Given the description of an element on the screen output the (x, y) to click on. 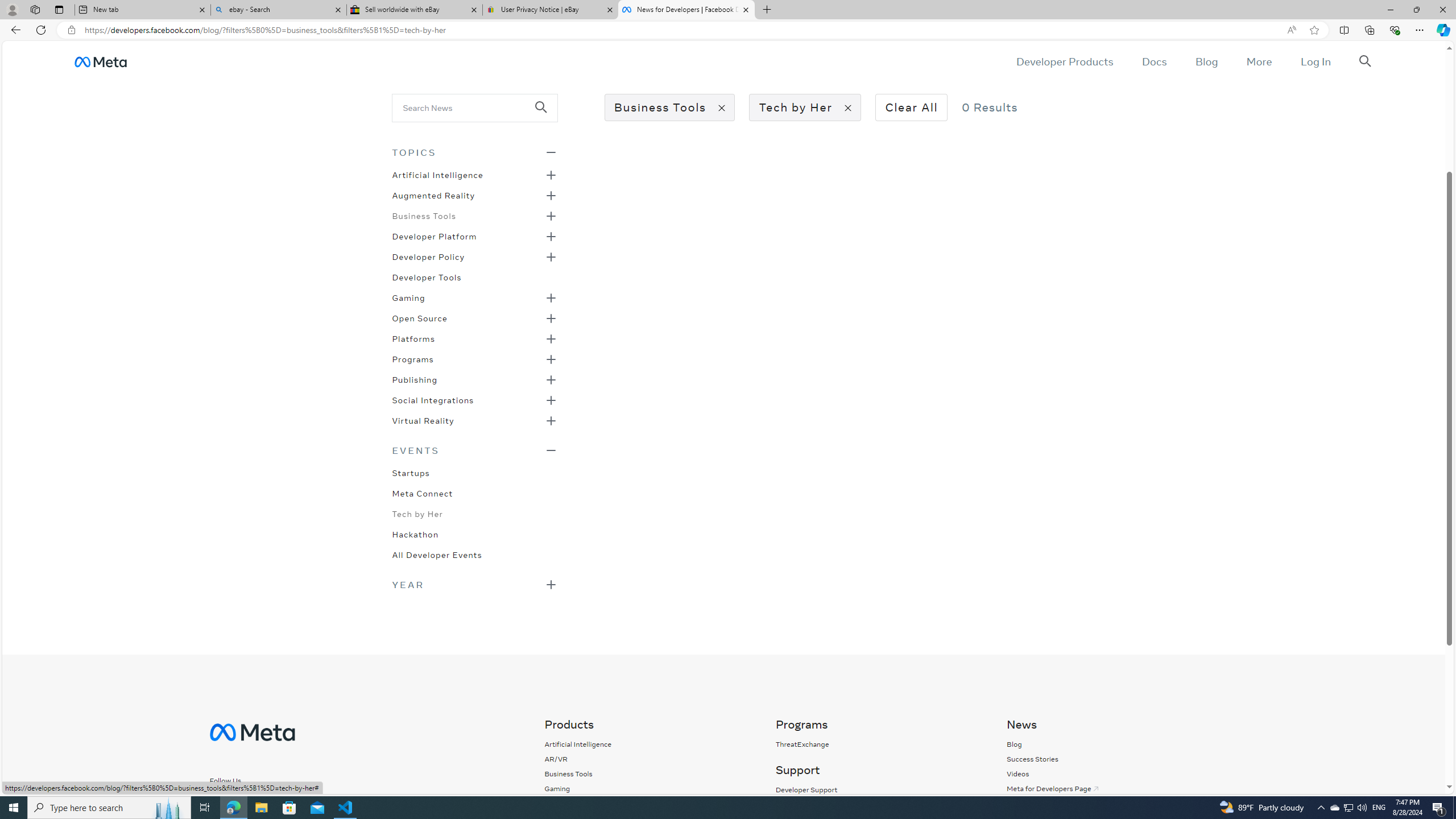
Open Source (418, 317)
Class: _8_jq (264, 800)
More (1259, 61)
Developer Products (1064, 61)
ThreatExchange (878, 743)
Programs (412, 358)
Docs (1153, 61)
Follow us on LinkedIn (290, 800)
Log In (1315, 61)
AutomationID: u_0_4z_2S (100, 61)
